Given the description of an element on the screen output the (x, y) to click on. 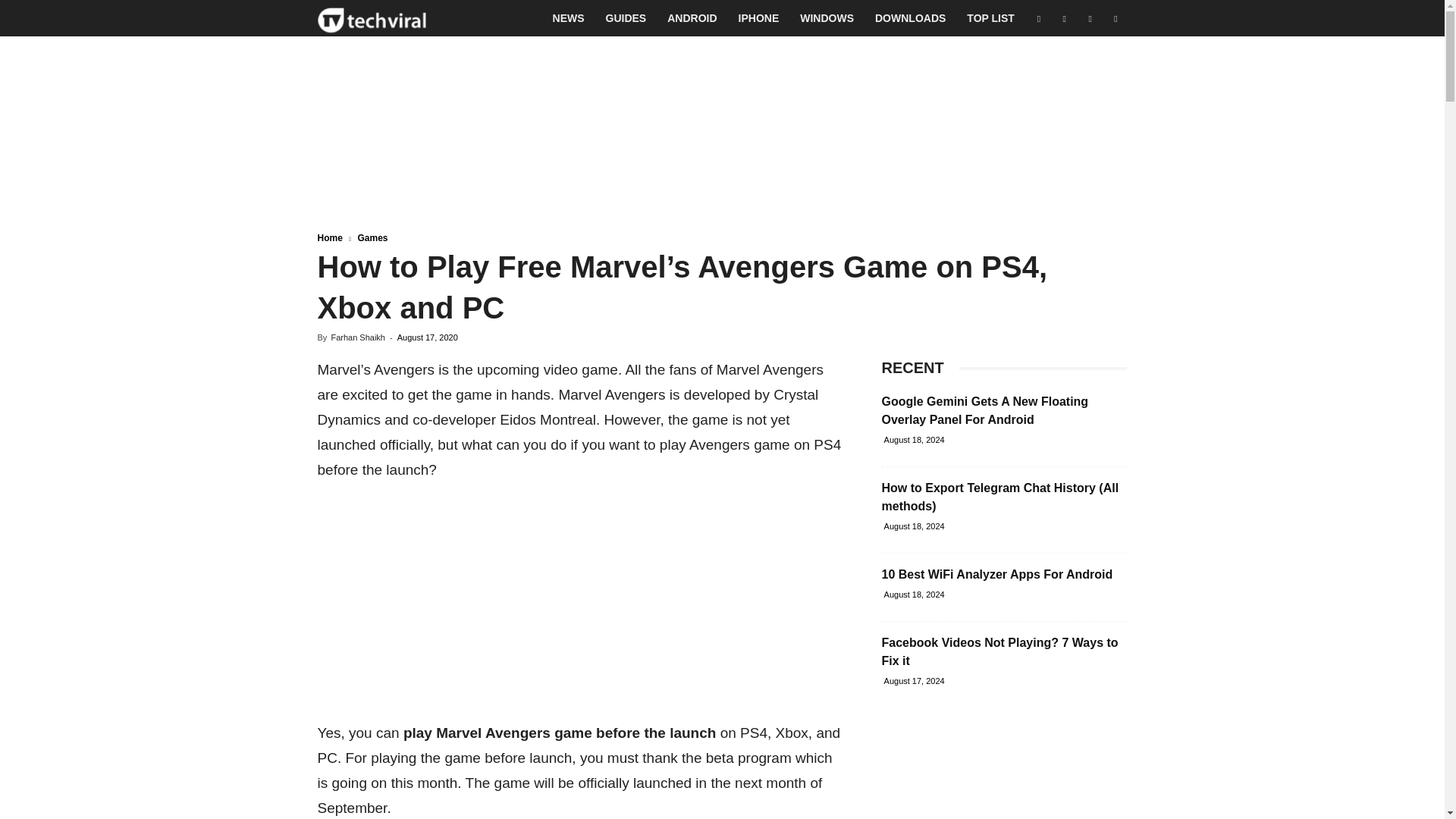
Tech Viral (371, 18)
GUIDES (626, 18)
WINDOWS (826, 18)
Home (329, 237)
NEWS (568, 18)
DOWNLOADS (910, 18)
TechViral (371, 18)
Farhan Shaikh (357, 337)
TOP LIST (990, 18)
IPHONE (759, 18)
